Given the description of an element on the screen output the (x, y) to click on. 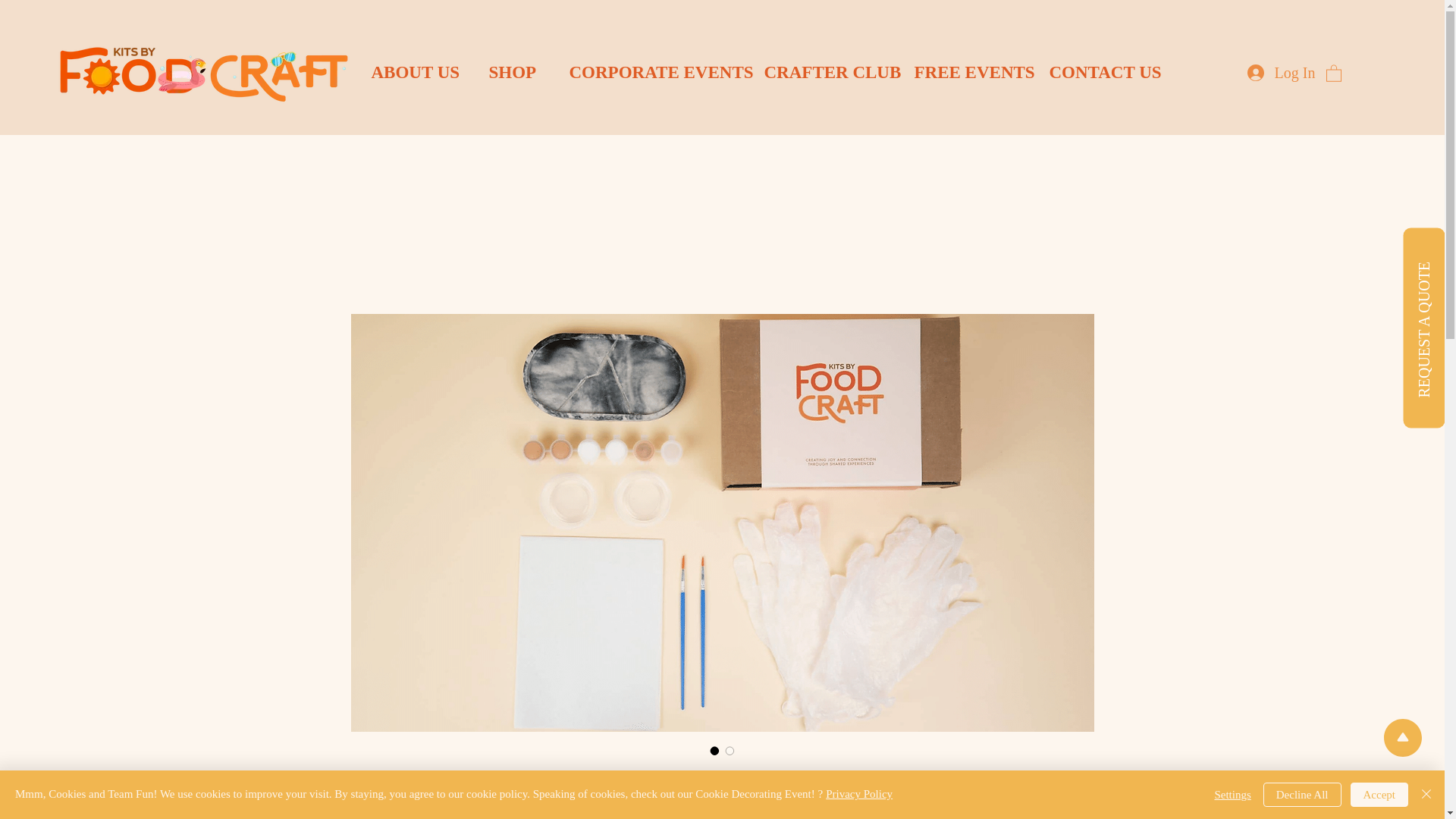
CONTACT US (1106, 72)
Log In (1281, 71)
CRAFTER CLUB (827, 72)
